Given the description of an element on the screen output the (x, y) to click on. 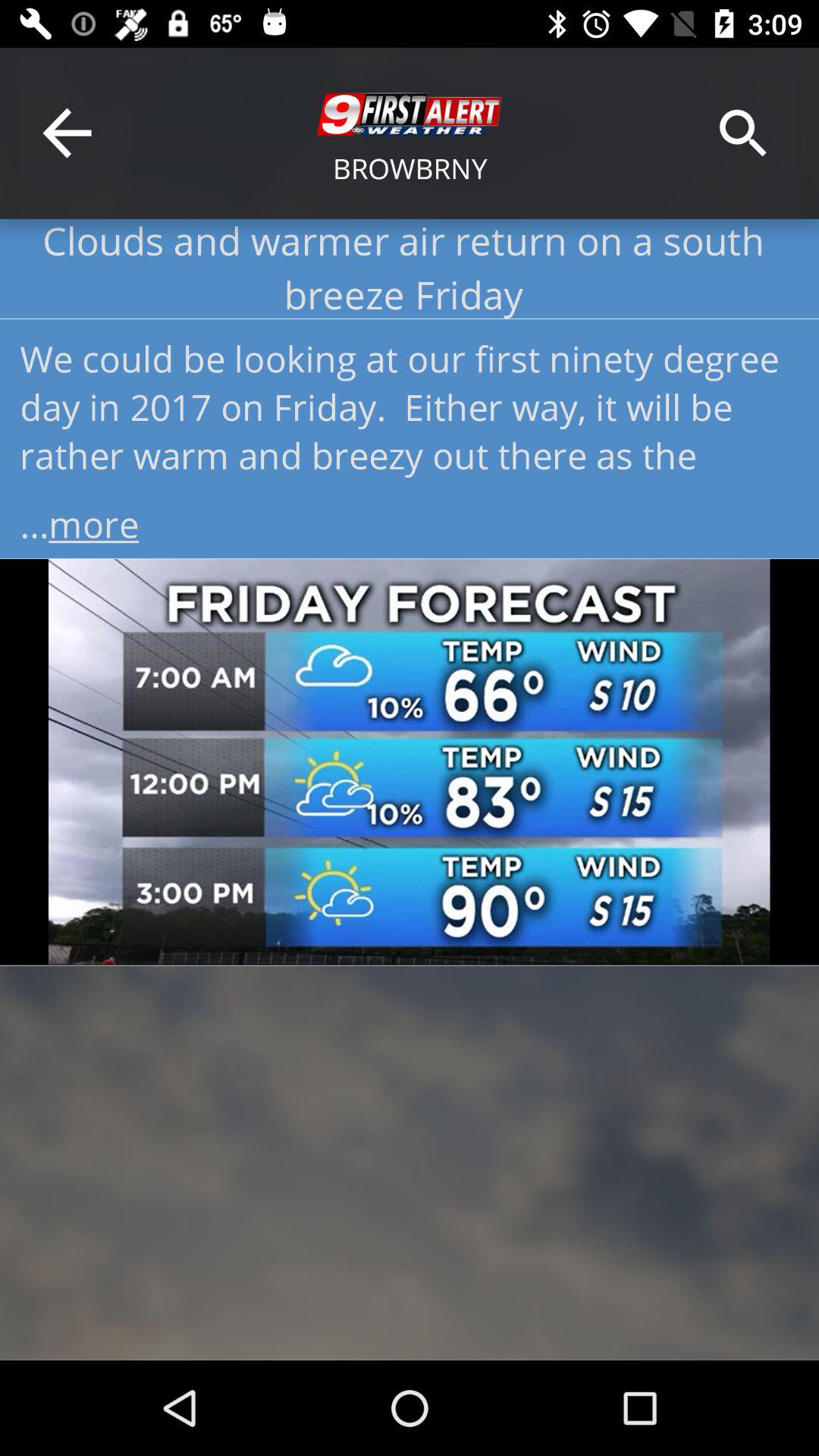
select ...more (409, 518)
